Given the description of an element on the screen output the (x, y) to click on. 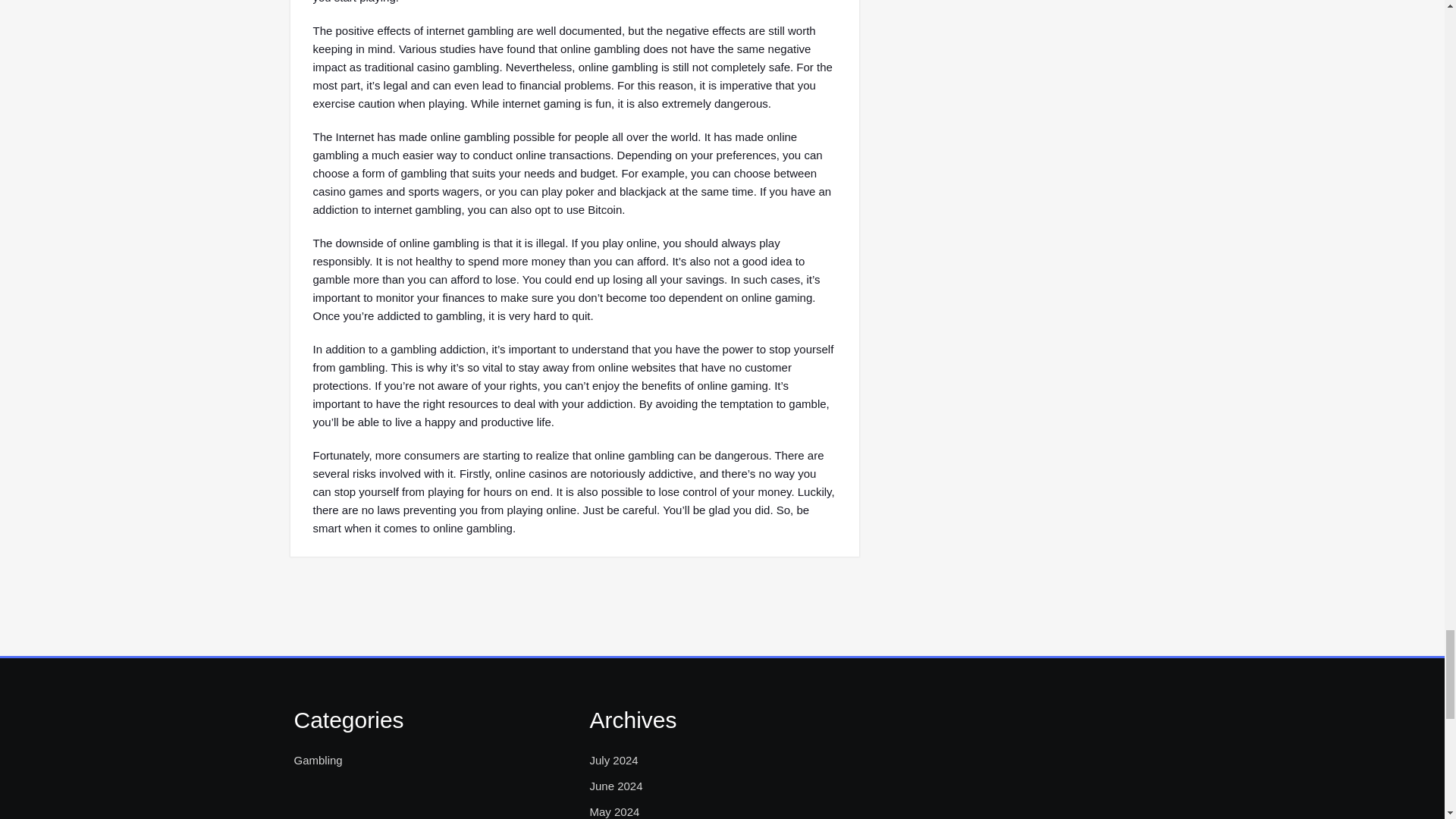
Gambling (318, 760)
May 2024 (614, 811)
July 2024 (613, 760)
June 2024 (615, 786)
